Given the description of an element on the screen output the (x, y) to click on. 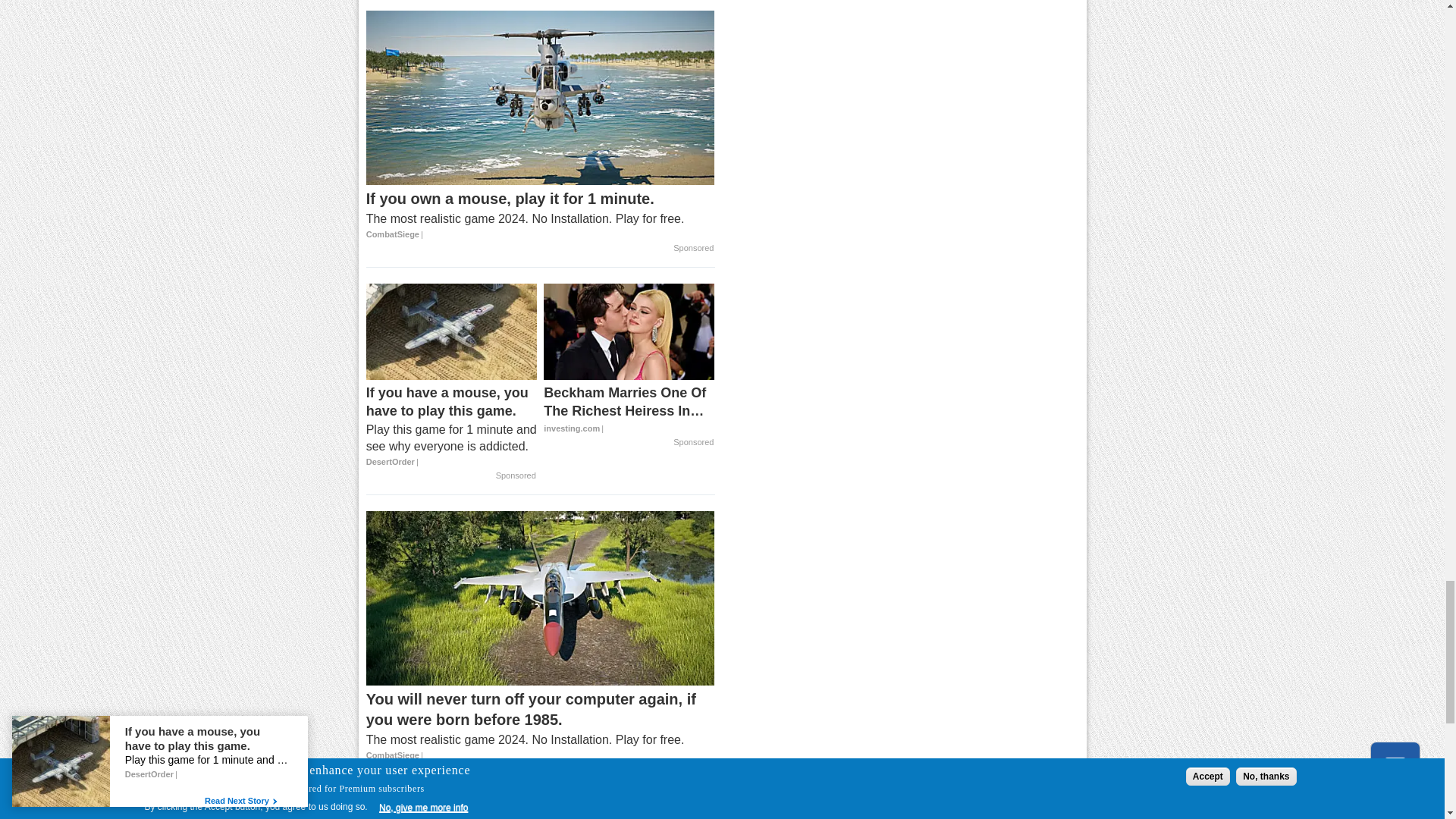
If you own a mouse, play it for 1 minute. (540, 97)
If you own a mouse, play it for 1 minute. (540, 214)
